Given the description of an element on the screen output the (x, y) to click on. 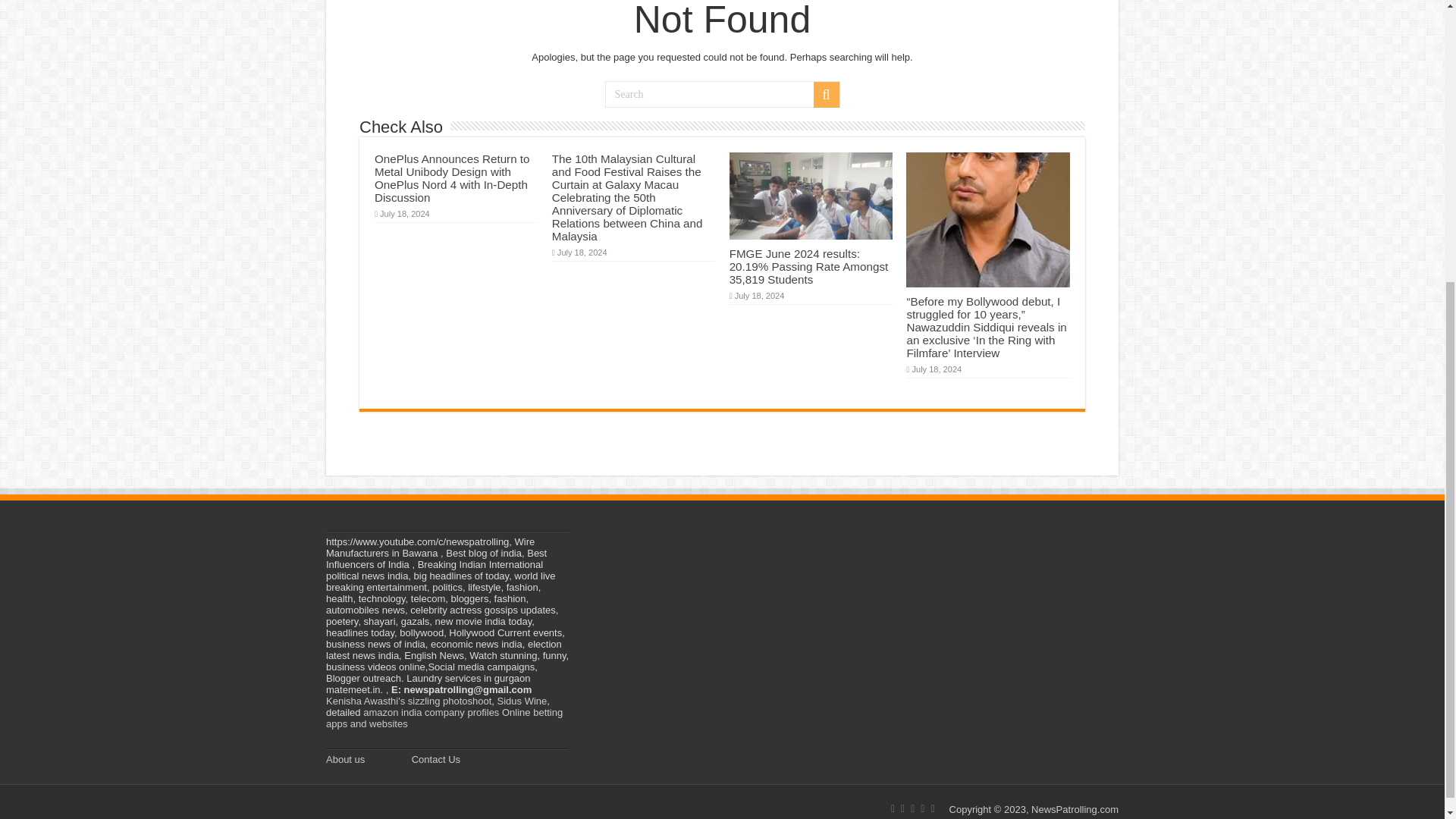
Search (722, 94)
